Given the description of an element on the screen output the (x, y) to click on. 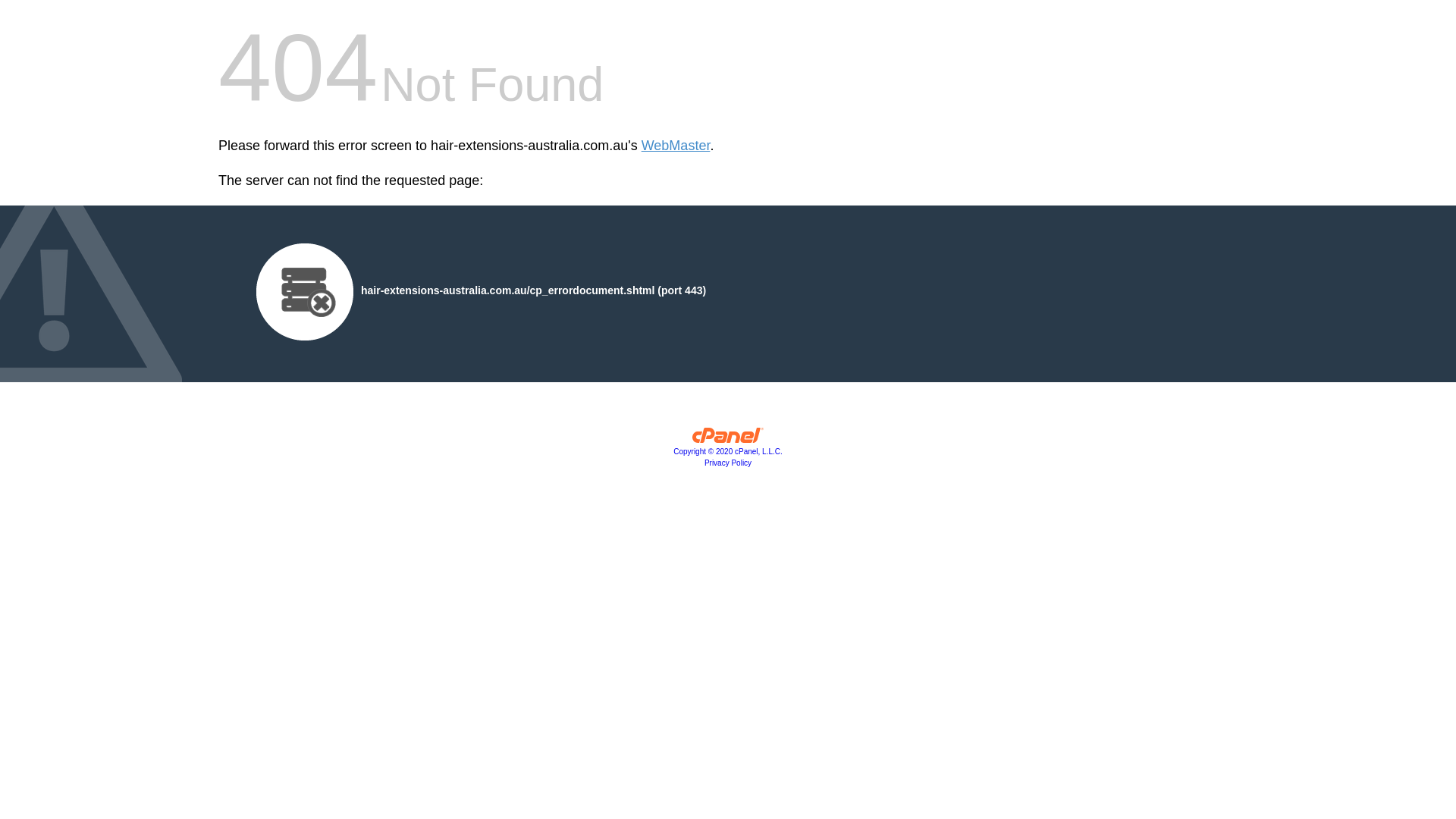
WebMaster Element type: text (675, 145)
cPanel, Inc. Element type: hover (728, 439)
Privacy Policy Element type: text (727, 462)
